Given the description of an element on the screen output the (x, y) to click on. 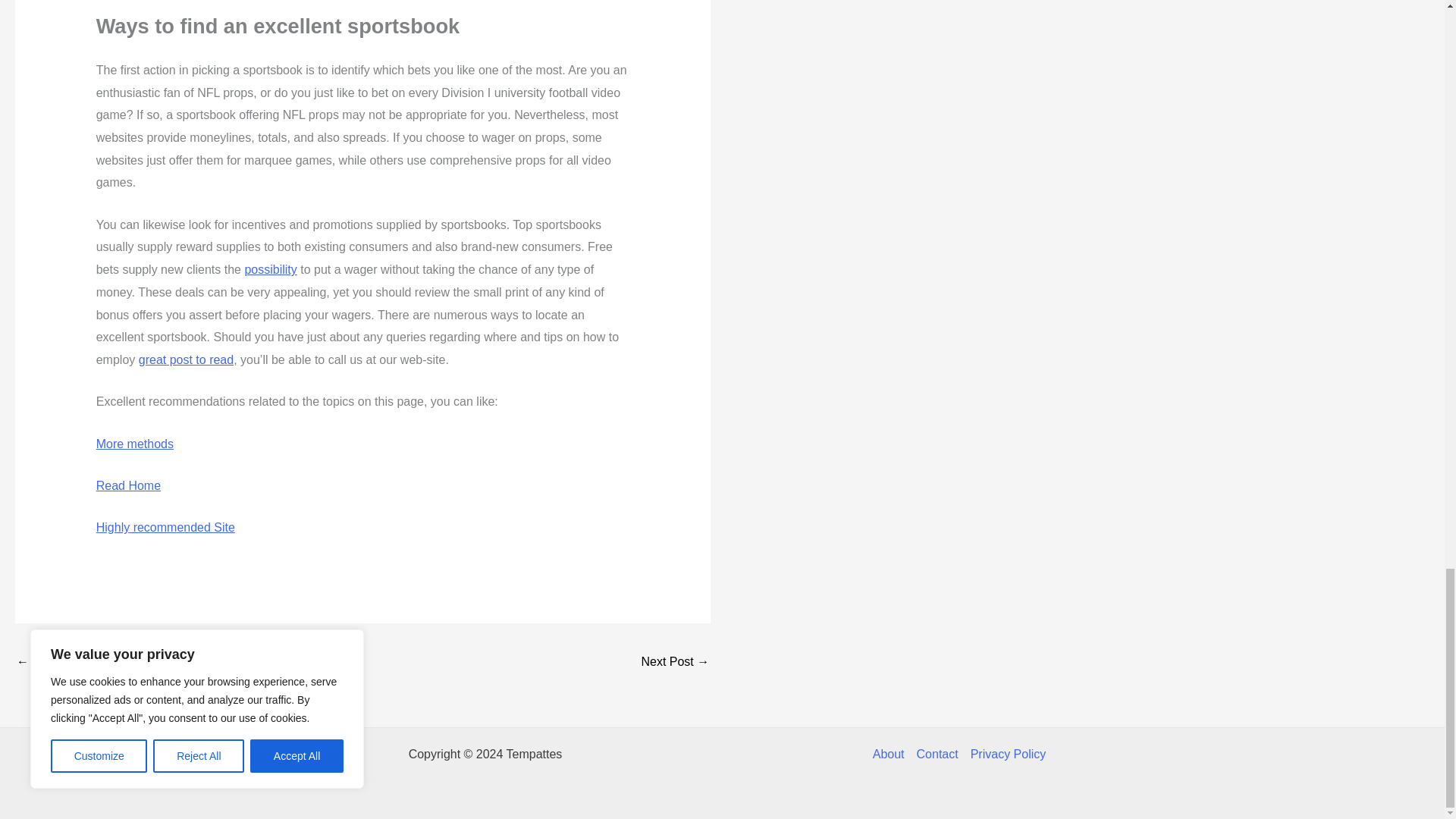
great post to read (185, 359)
More methods (134, 443)
possibility (270, 269)
3 Kinds Of Digital Printing (61, 663)
Highly recommended Site (165, 526)
Read Home (128, 485)
Types of Home Heating Systems (674, 663)
